Given the description of an element on the screen output the (x, y) to click on. 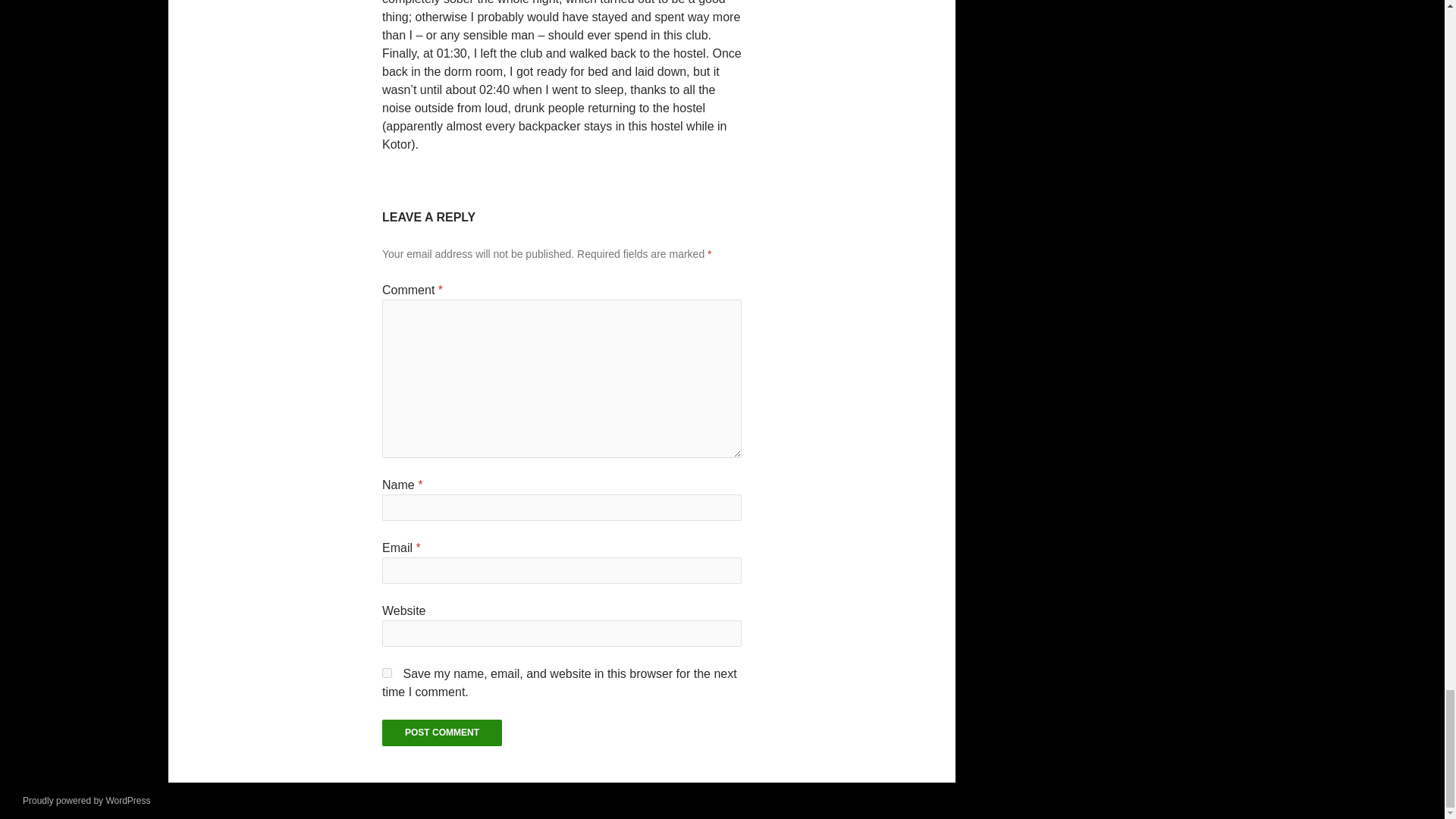
Post Comment (441, 732)
yes (386, 673)
